Given the description of an element on the screen output the (x, y) to click on. 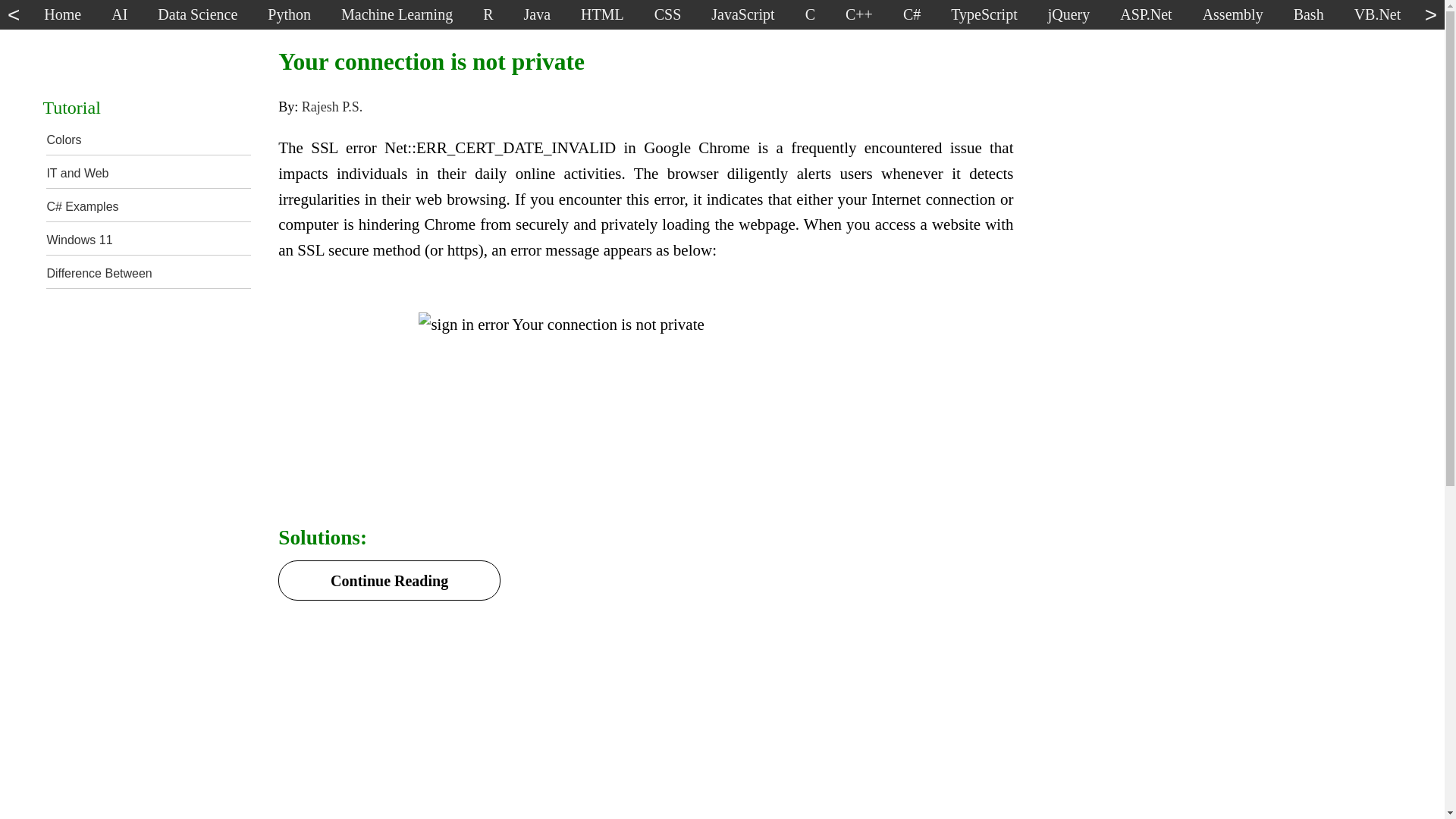
C (810, 18)
ASP.Net (1145, 18)
Colors (63, 139)
Python (288, 18)
R (487, 18)
Rajesh P.S. (331, 106)
Windows 11 (79, 239)
Machine Learning (396, 18)
Assembly (1232, 18)
VB.Net (1377, 18)
